Given the description of an element on the screen output the (x, y) to click on. 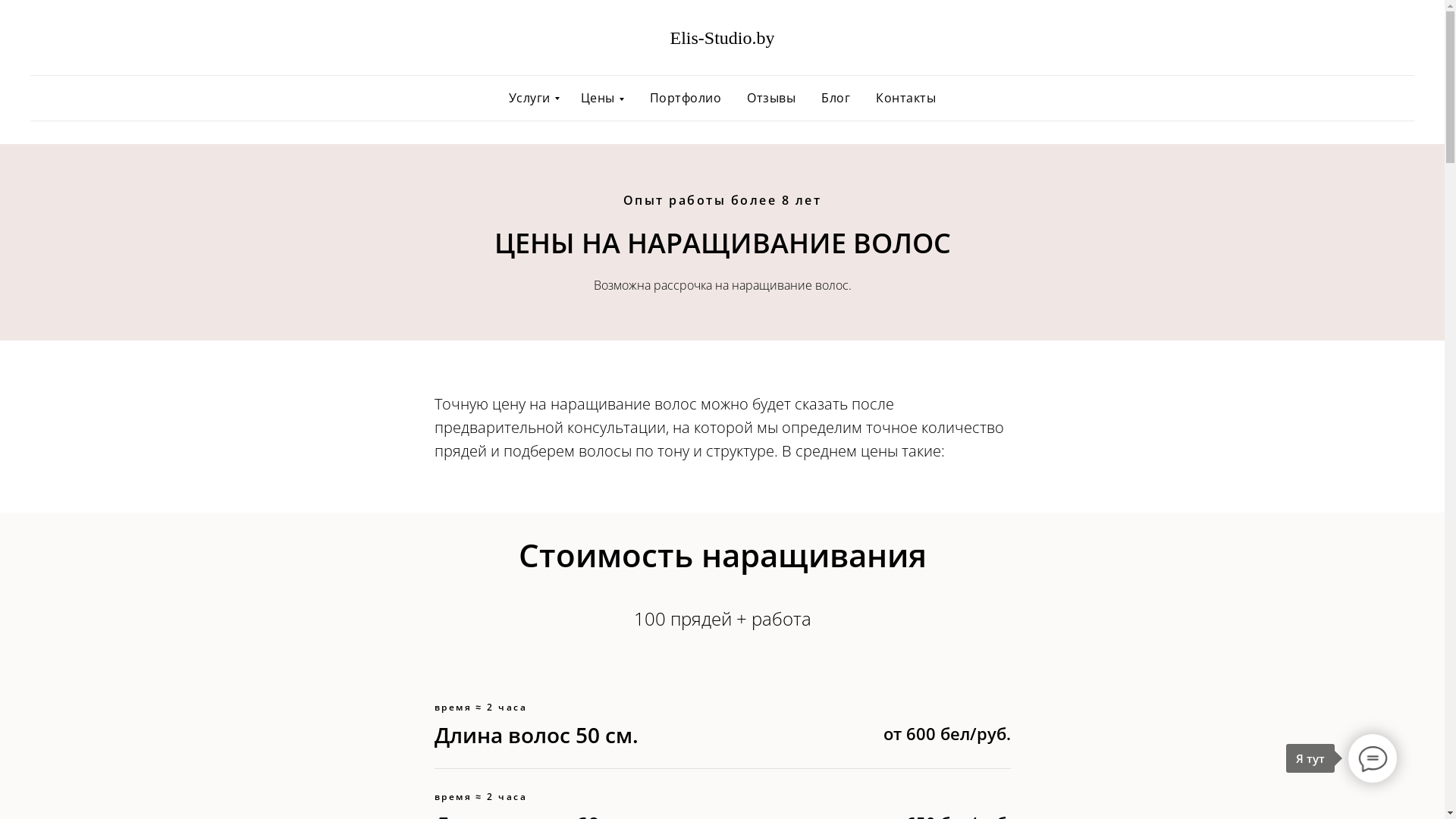
Elis-Studio.by Element type: text (722, 39)
